Given the description of an element on the screen output the (x, y) to click on. 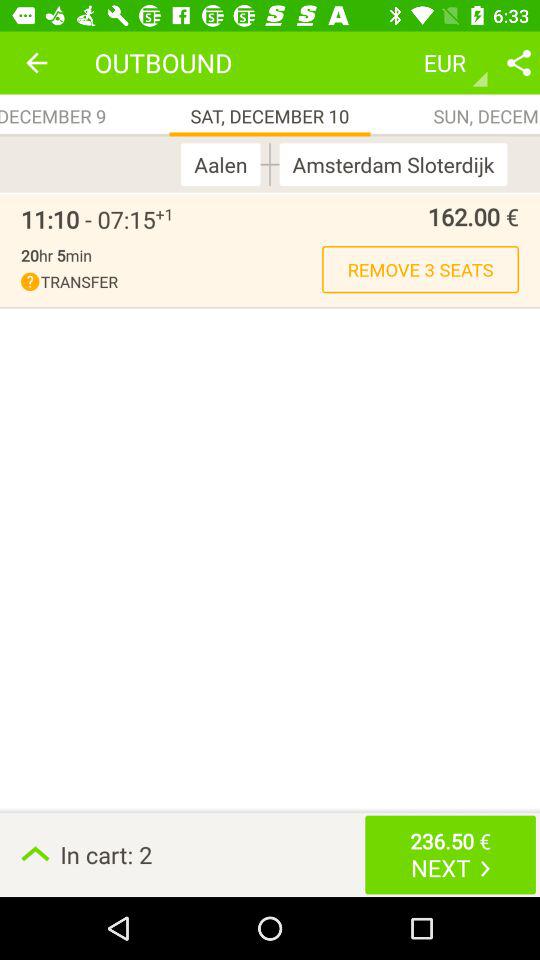
click the icon next to 11 10 07 icon (164, 214)
